Given the description of an element on the screen output the (x, y) to click on. 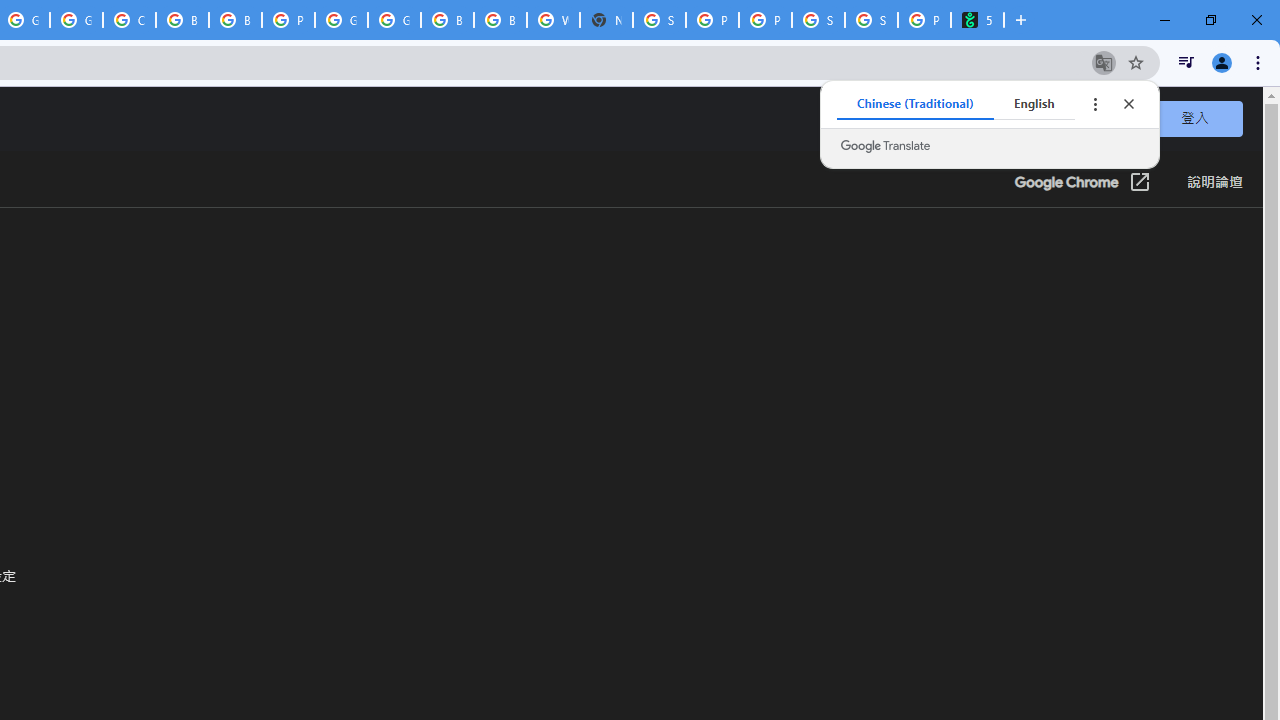
Translate options (1094, 103)
Translate this page (1103, 62)
